Given the description of an element on the screen output the (x, y) to click on. 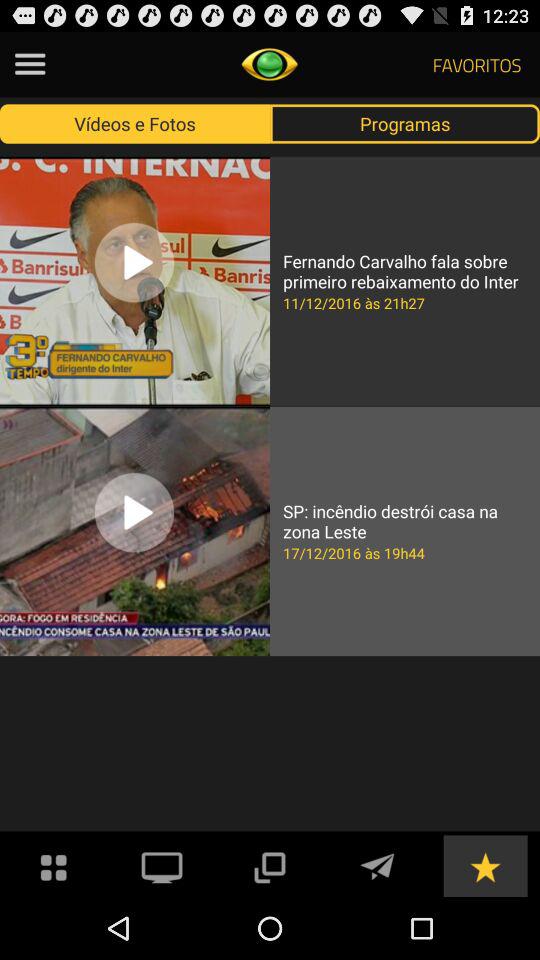
see the menu (29, 64)
